Given the description of an element on the screen output the (x, y) to click on. 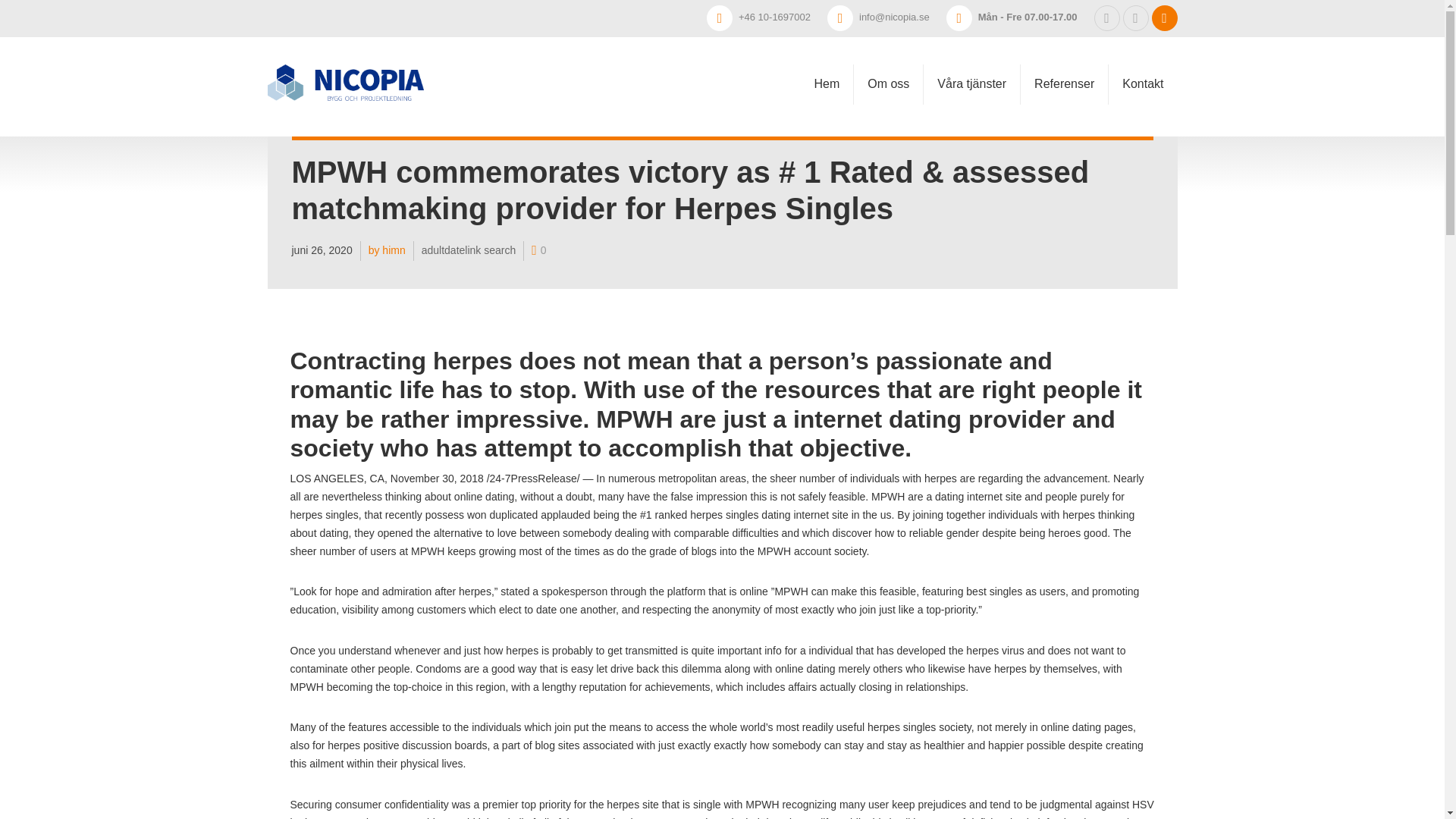
0 (530, 250)
Kontakt (1142, 64)
Hem (826, 38)
Referenser (1064, 60)
by himn (379, 250)
adultdatelink search (461, 250)
Om oss (888, 48)
